Given the description of an element on the screen output the (x, y) to click on. 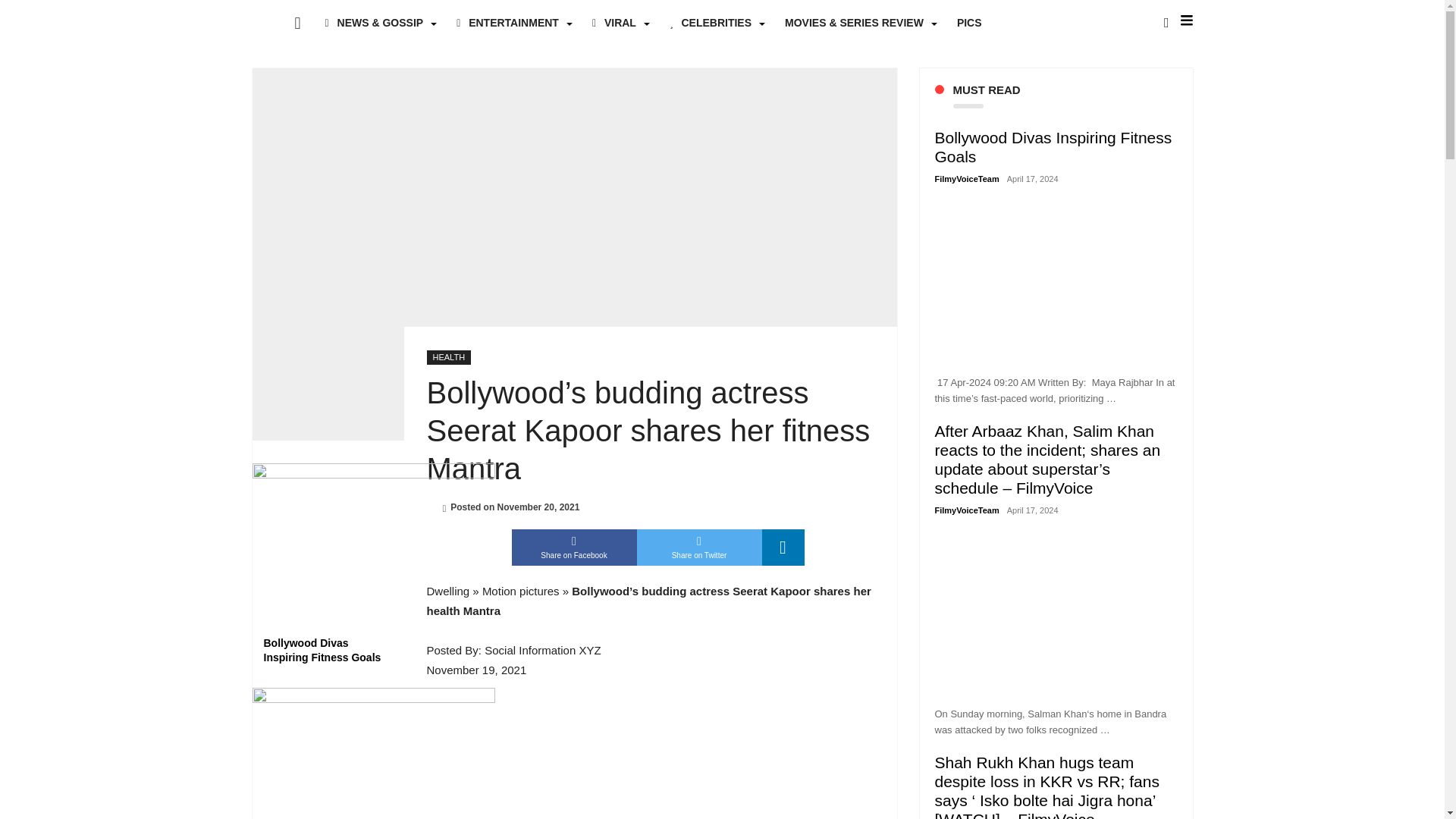
ENTERTAINMENT (511, 22)
CELEBRITIES (715, 22)
VIRAL (618, 22)
